Given the description of an element on the screen output the (x, y) to click on. 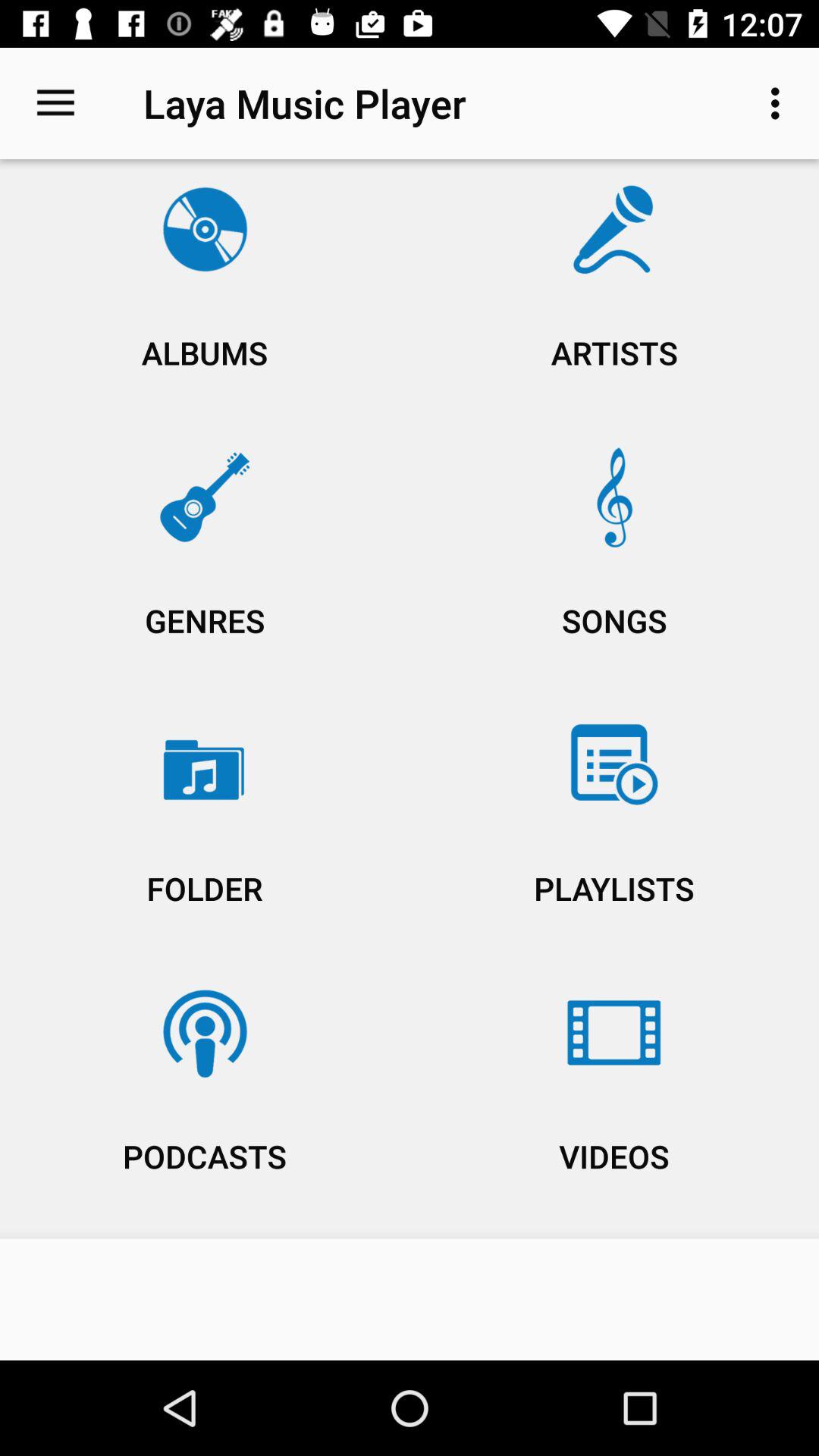
turn off the item next to playlists icon (204, 1100)
